Given the description of an element on the screen output the (x, y) to click on. 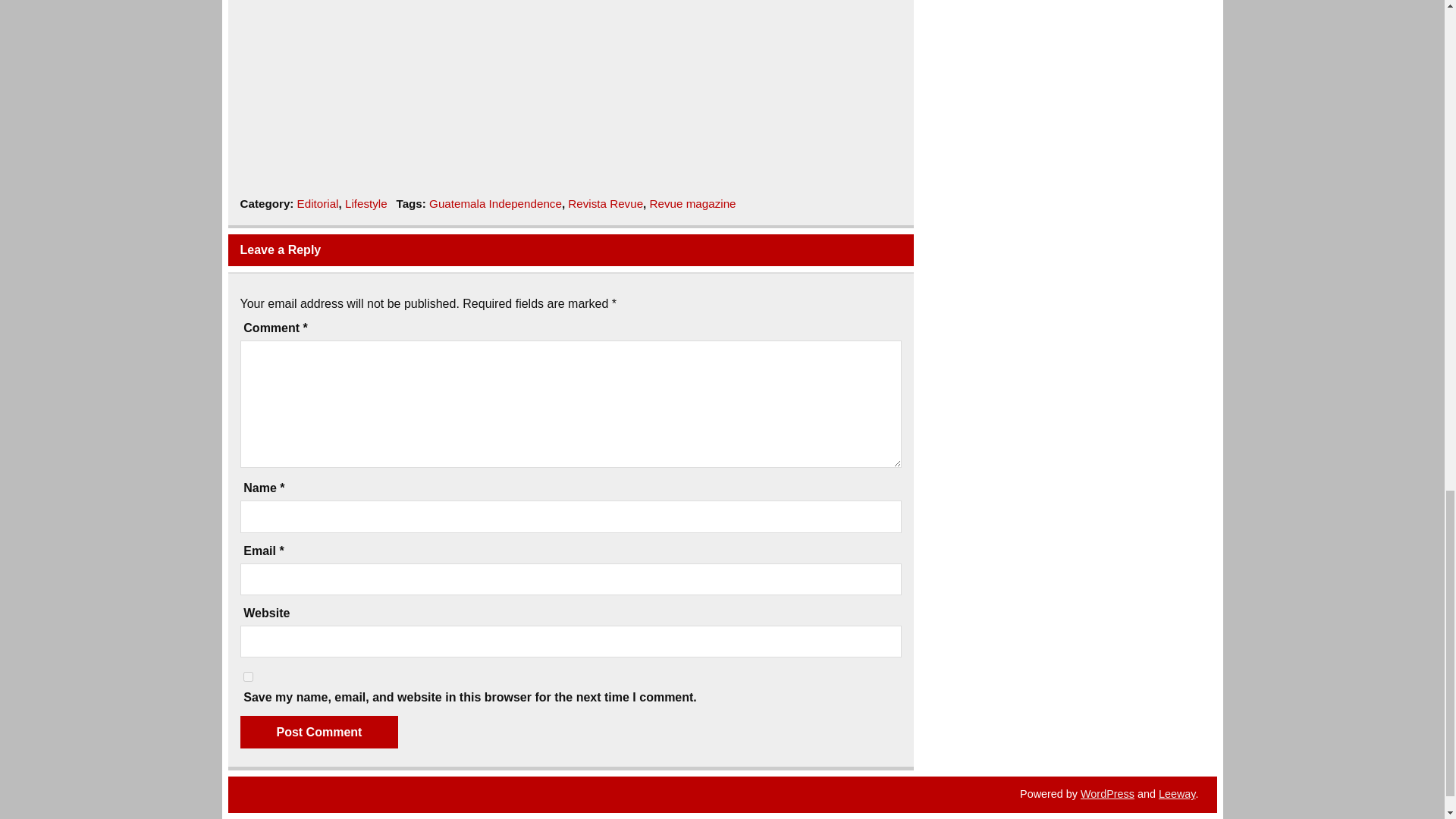
Guatemala Independence (495, 203)
Revista Revue (605, 203)
WordPress (1107, 793)
Post Comment (318, 732)
Editorial (318, 203)
WordPress (1107, 793)
Revue magazine (692, 203)
Leeway WordPress Theme (1176, 793)
Leeway (1176, 793)
Post Comment (318, 732)
